Given the description of an element on the screen output the (x, y) to click on. 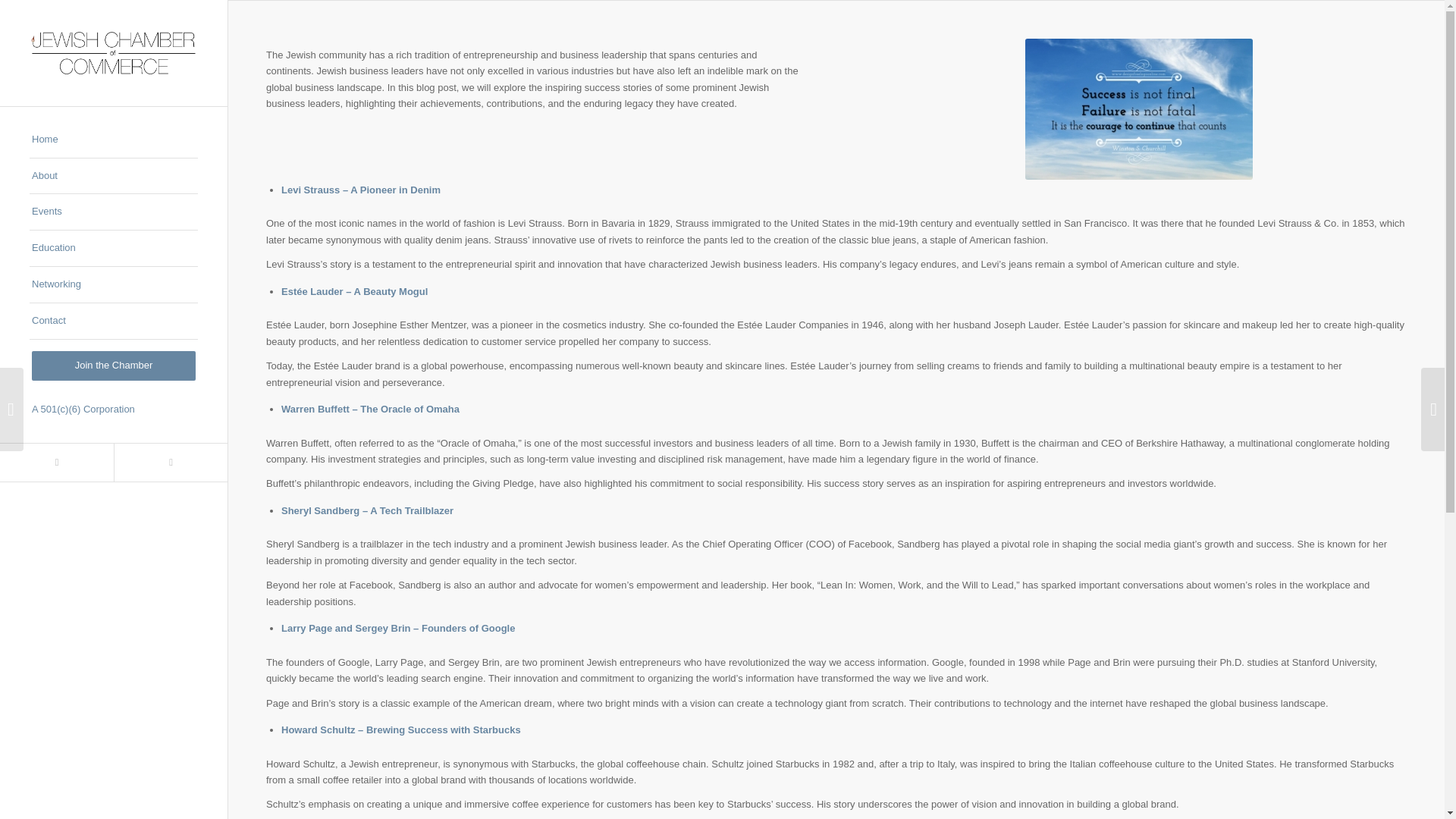
Events (113, 212)
Networking (113, 284)
Instagram (170, 462)
Home (113, 140)
feb (1138, 108)
Facebook (56, 462)
Join the Chamber (113, 365)
Contact (113, 321)
About (113, 176)
JCCWebsiteLogoBlack (113, 53)
